Given the description of an element on the screen output the (x, y) to click on. 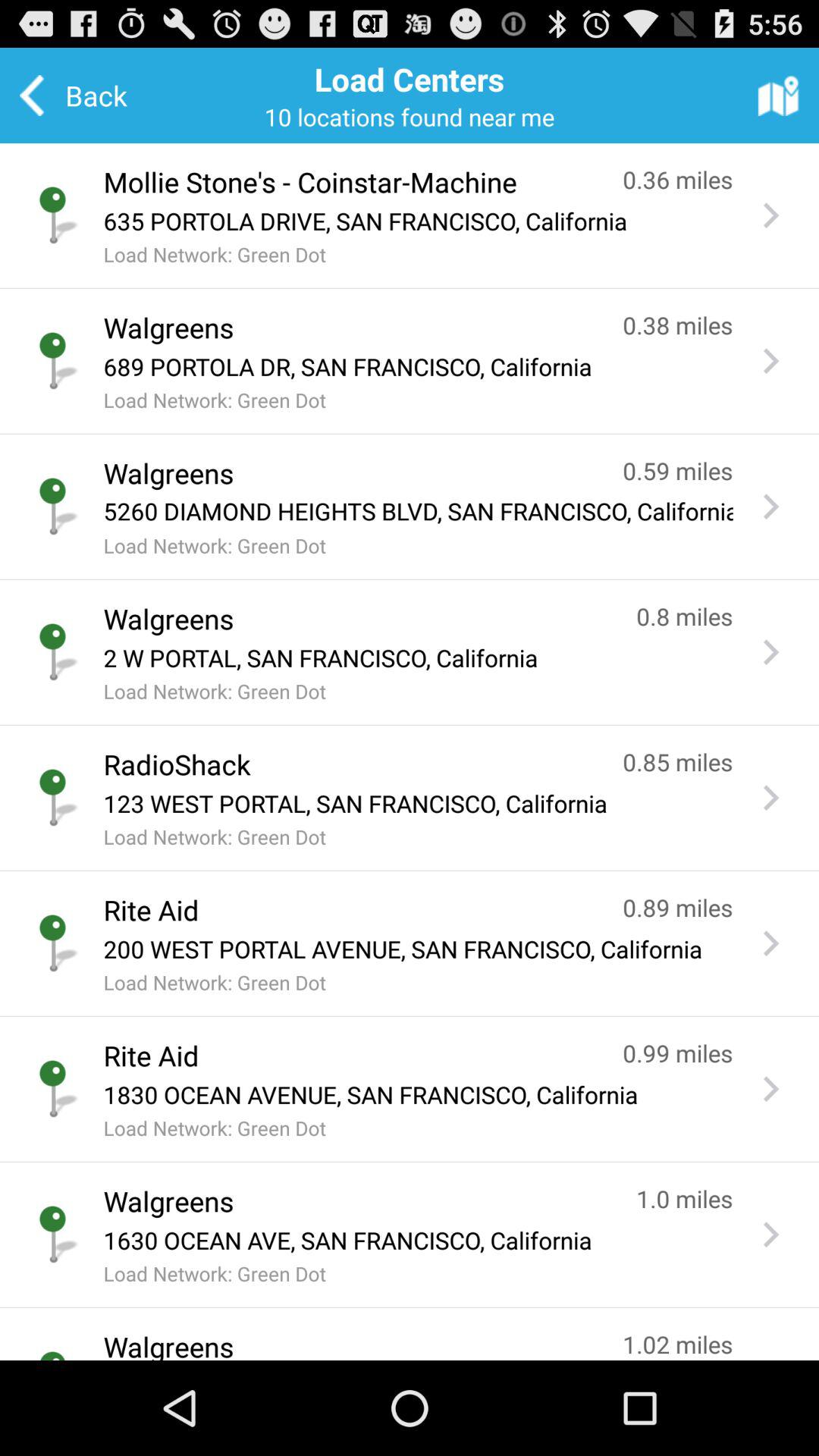
press app below the load network green item (347, 764)
